Given the description of an element on the screen output the (x, y) to click on. 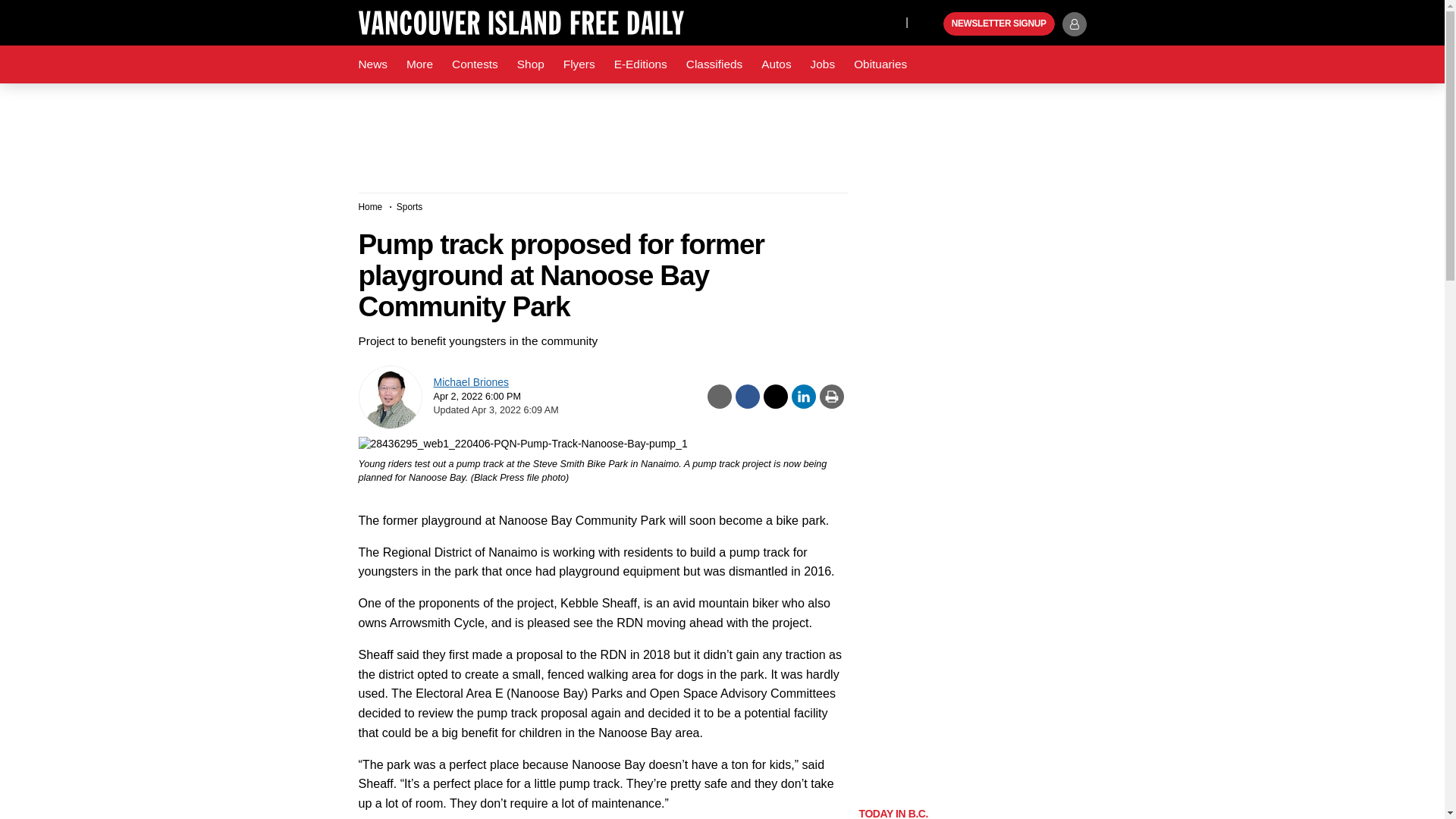
Instagram (889, 21)
News (372, 64)
X (853, 21)
Facebook (823, 21)
Black Press Media (929, 24)
Play (929, 24)
NEWSLETTER SIGNUP (998, 24)
